Given the description of an element on the screen output the (x, y) to click on. 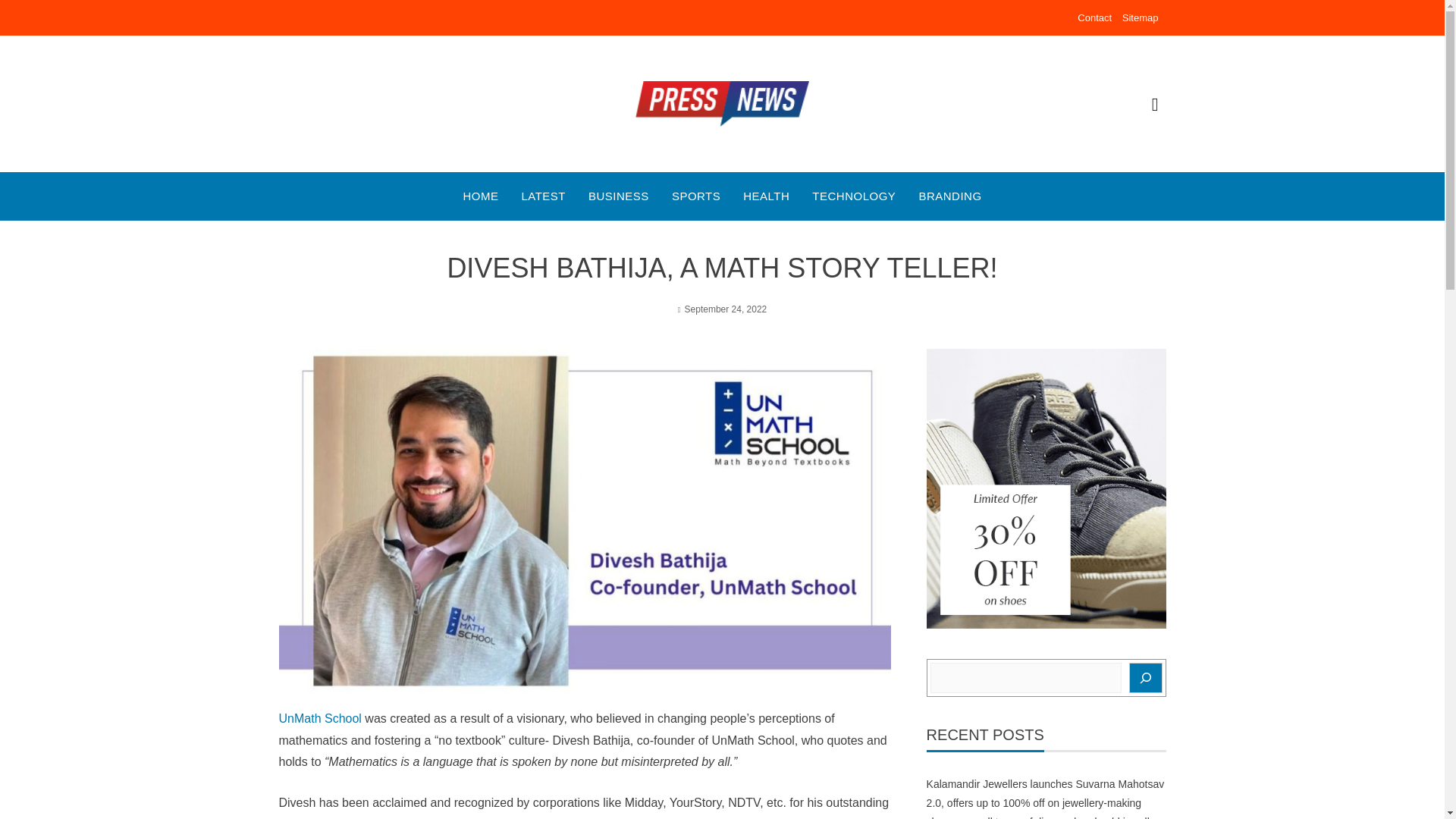
TECHNOLOGY (853, 196)
HOME (480, 196)
LATEST (543, 196)
HEALTH (765, 196)
BUSINESS (618, 196)
Sitemap (1140, 17)
BRANDING (949, 196)
UnMath School (320, 717)
SPORTS (695, 196)
Contact (1094, 17)
